Given the description of an element on the screen output the (x, y) to click on. 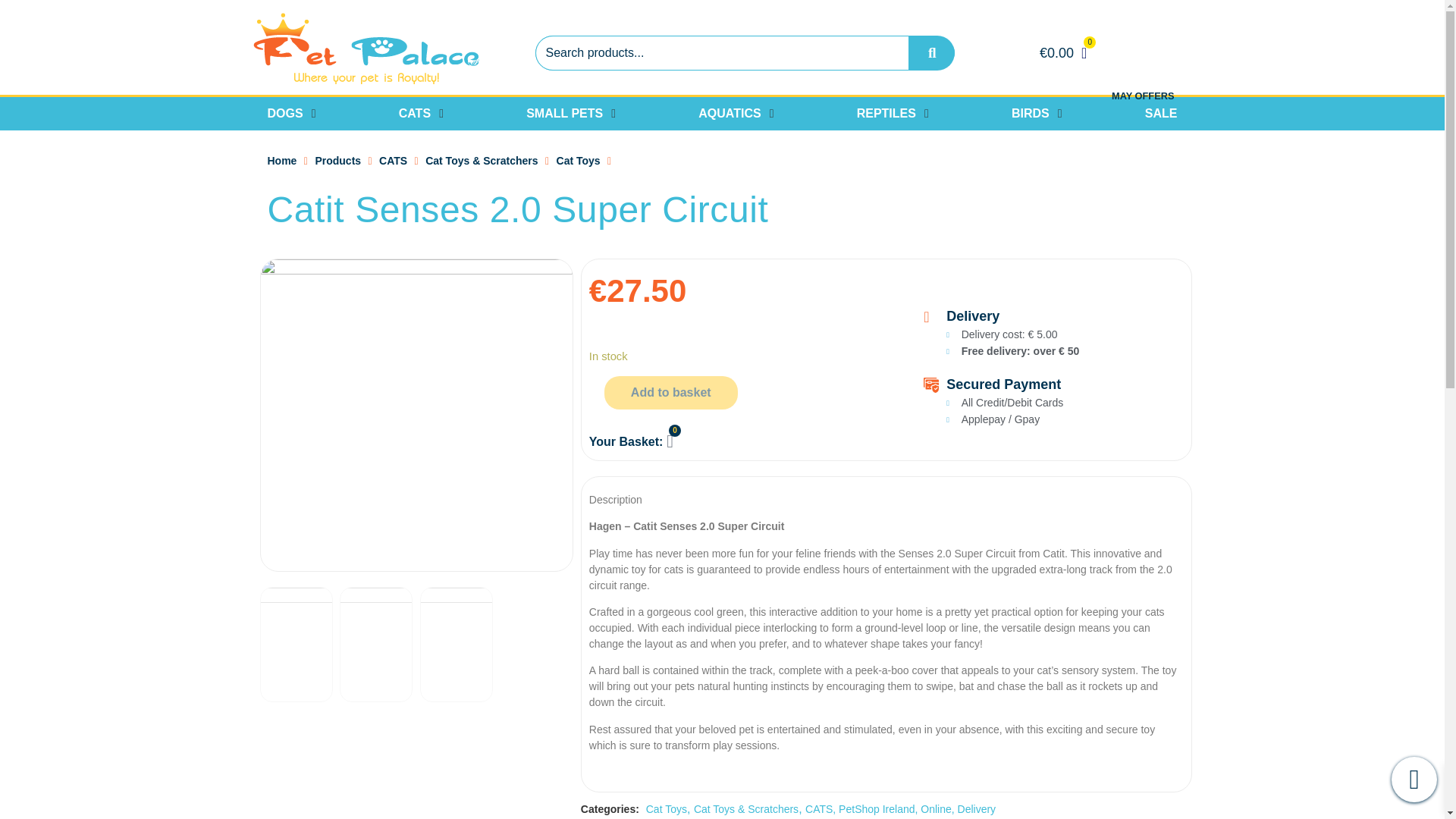
CATS (392, 160)
608 (415, 414)
610 (455, 644)
Home (281, 160)
609 (375, 644)
Products (337, 160)
608 (295, 644)
DOGS (284, 113)
Cat Toys (577, 160)
